Given the description of an element on the screen output the (x, y) to click on. 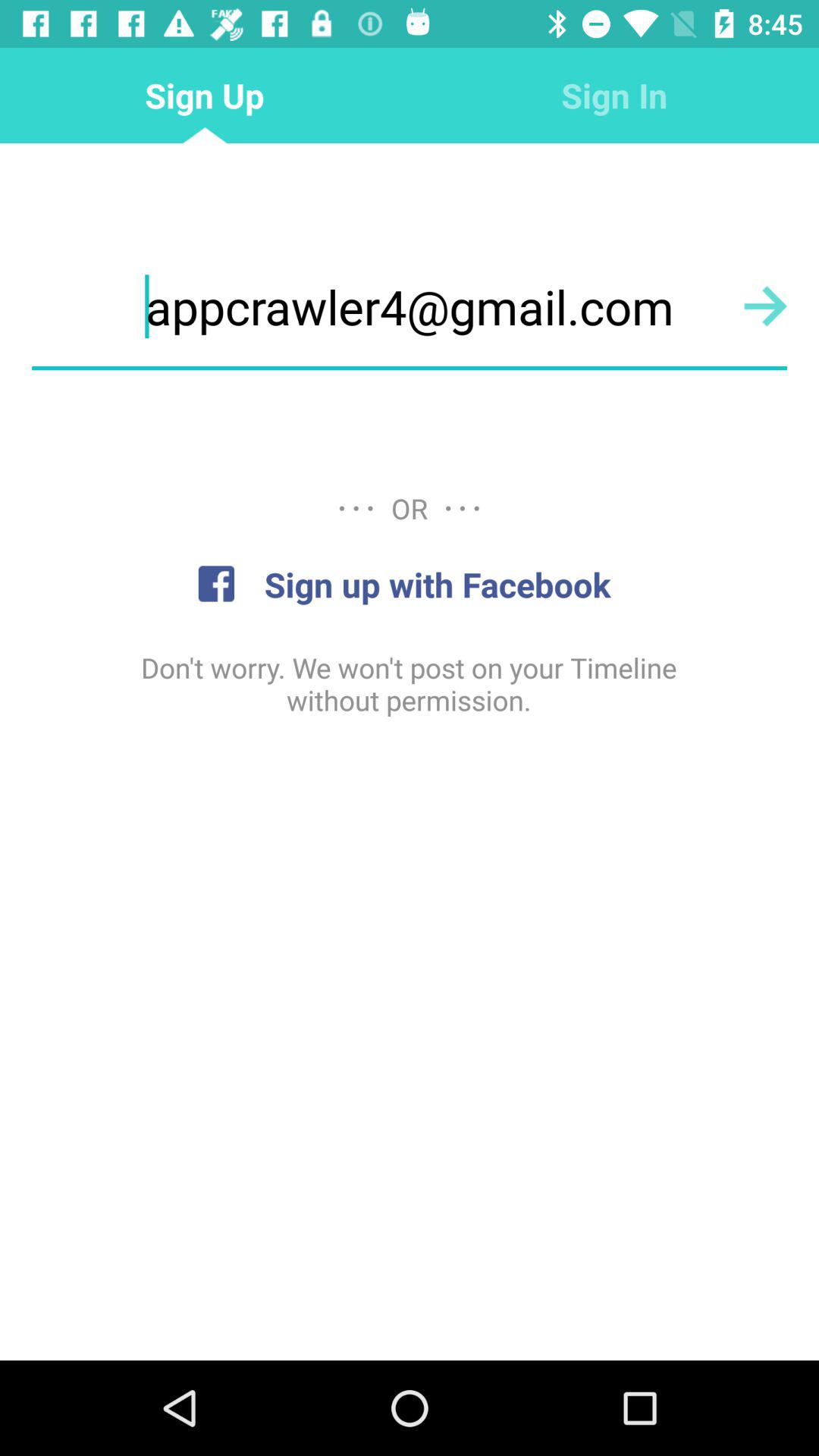
turn off icon below the sign up item (409, 306)
